Given the description of an element on the screen output the (x, y) to click on. 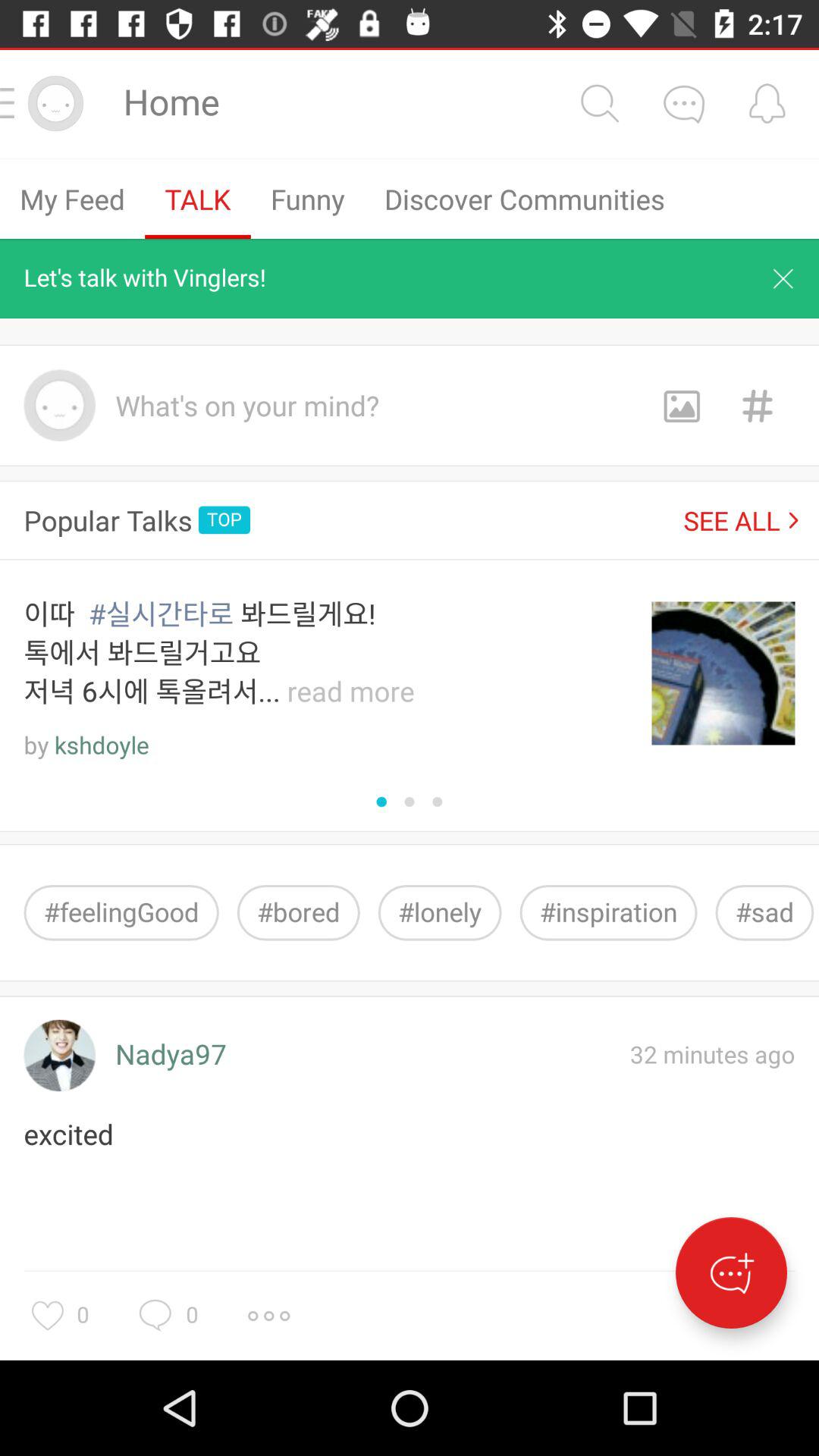
show messenger (731, 1272)
